Given the description of an element on the screen output the (x, y) to click on. 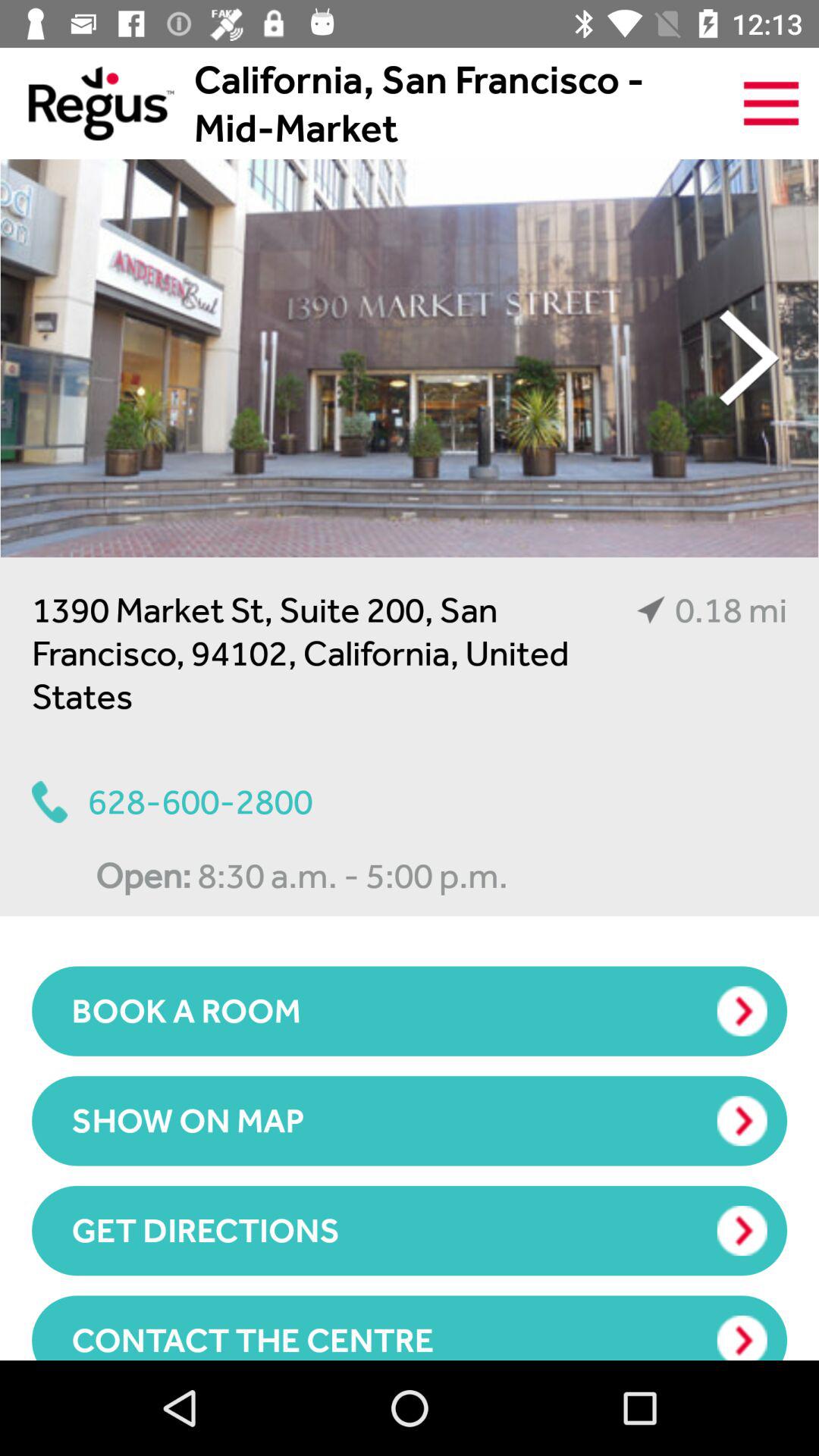
press the icon to the left of california san francisco item (87, 103)
